Given the description of an element on the screen output the (x, y) to click on. 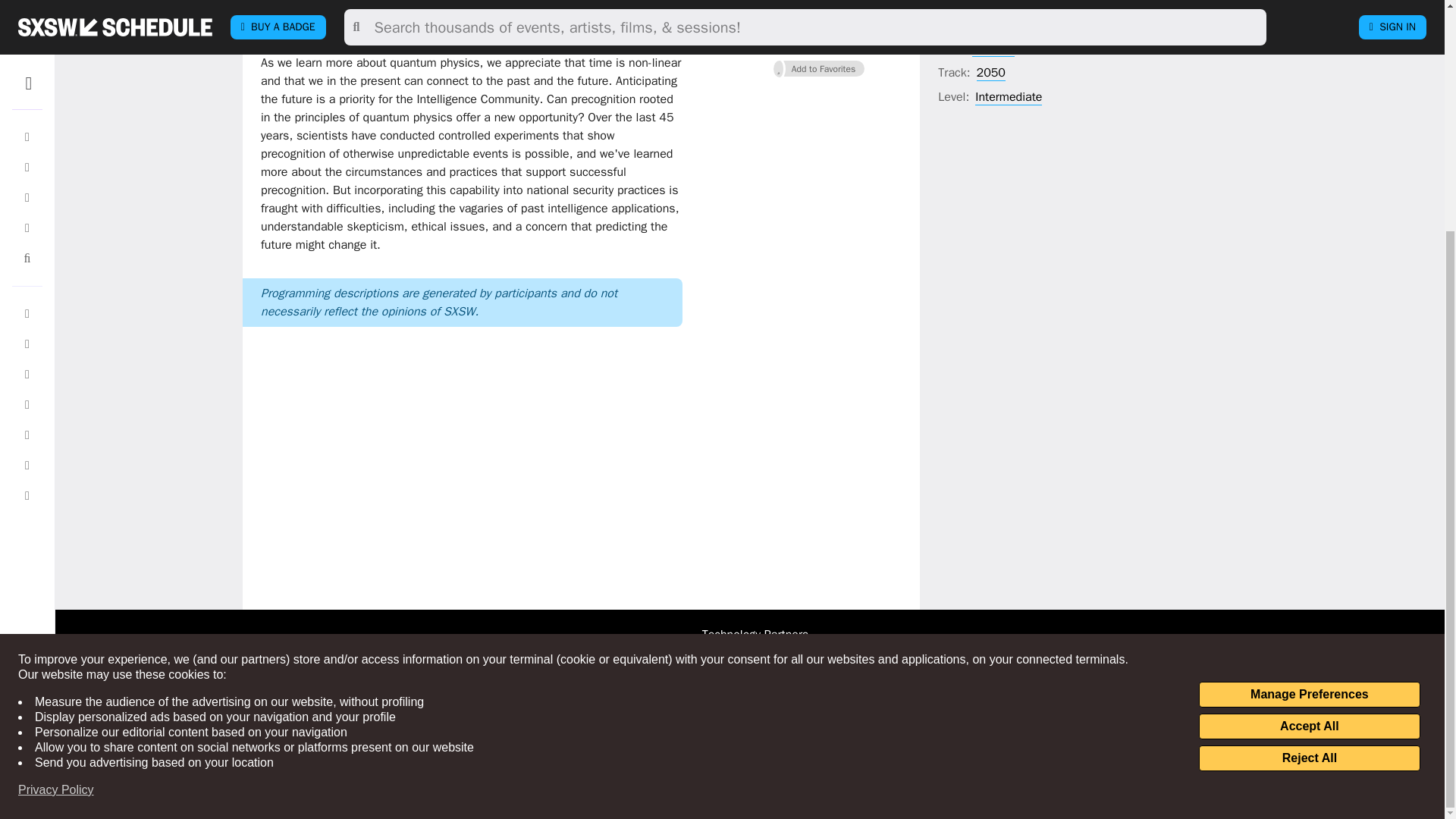
Sign In to add to your favorites. (818, 68)
Privacy Policy (55, 477)
Reject All (1309, 445)
Accept All (1309, 413)
Manage Preferences (1309, 381)
